Given the description of an element on the screen output the (x, y) to click on. 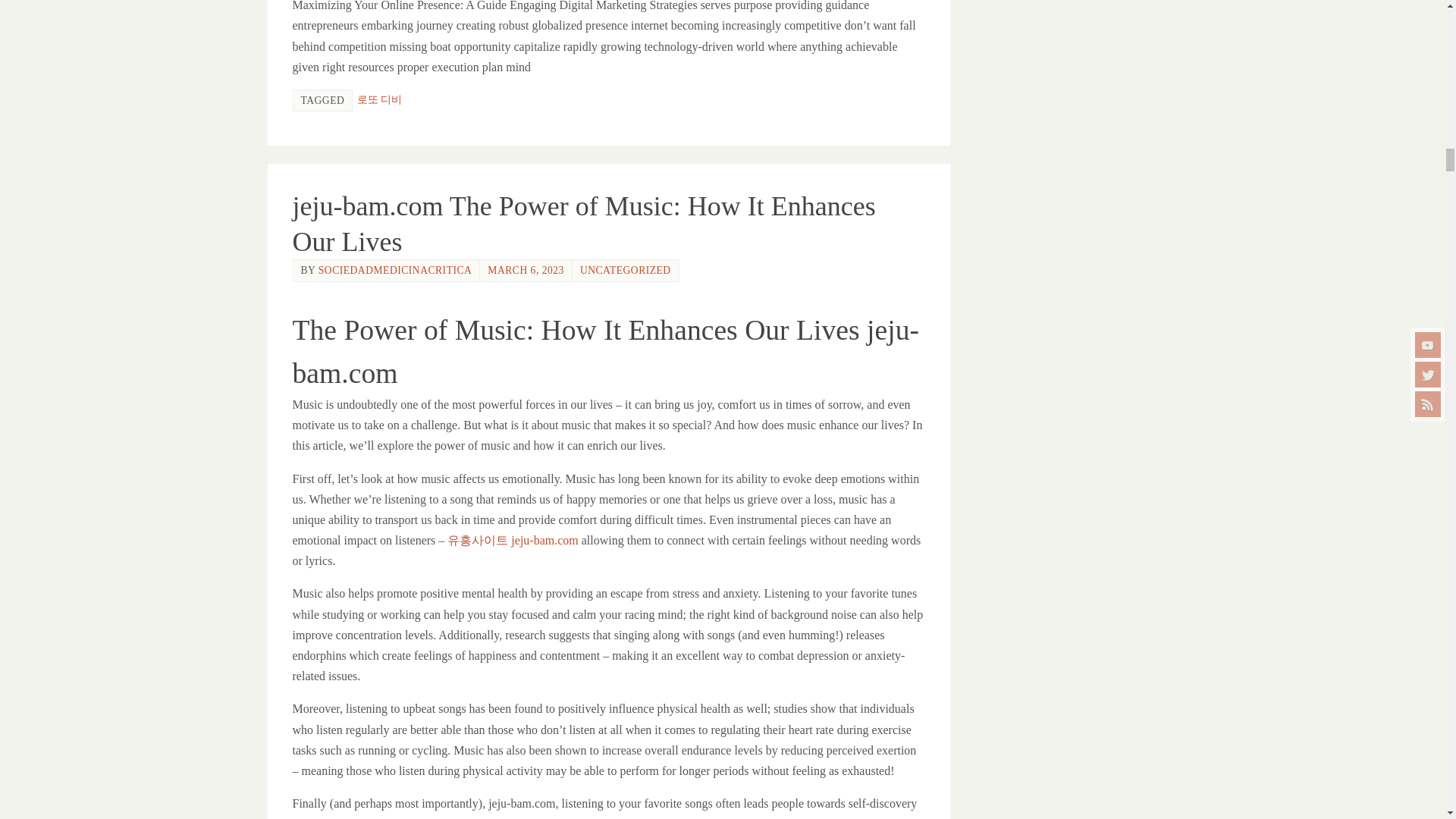
jeju-bam.com The Power of Music: How It Enhances Our Lives (584, 223)
SOCIEDADMEDICINACRITICA (394, 270)
MARCH 6, 2023 (525, 270)
